Given the description of an element on the screen output the (x, y) to click on. 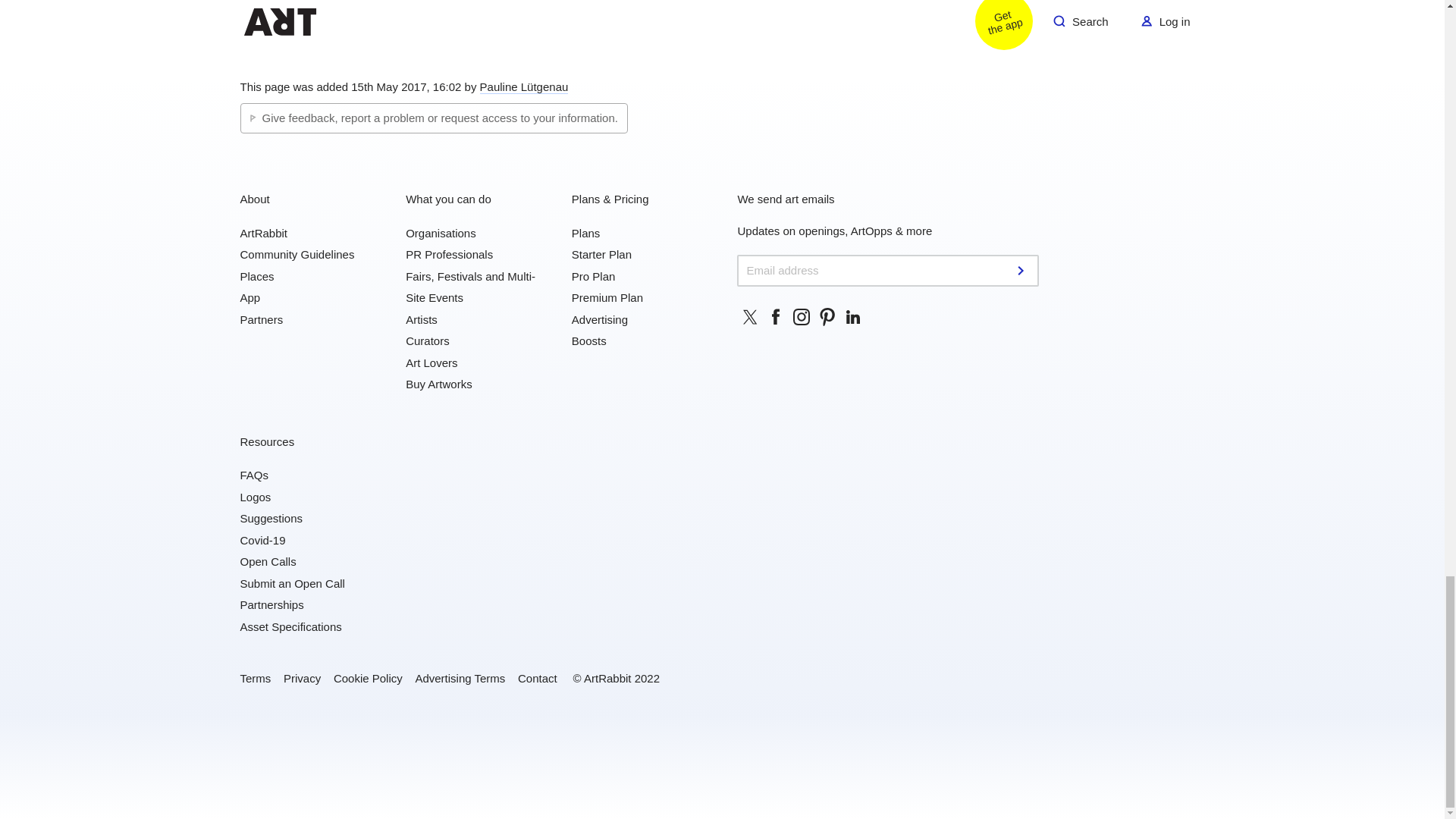
submit (1021, 270)
